Given the description of an element on the screen output the (x, y) to click on. 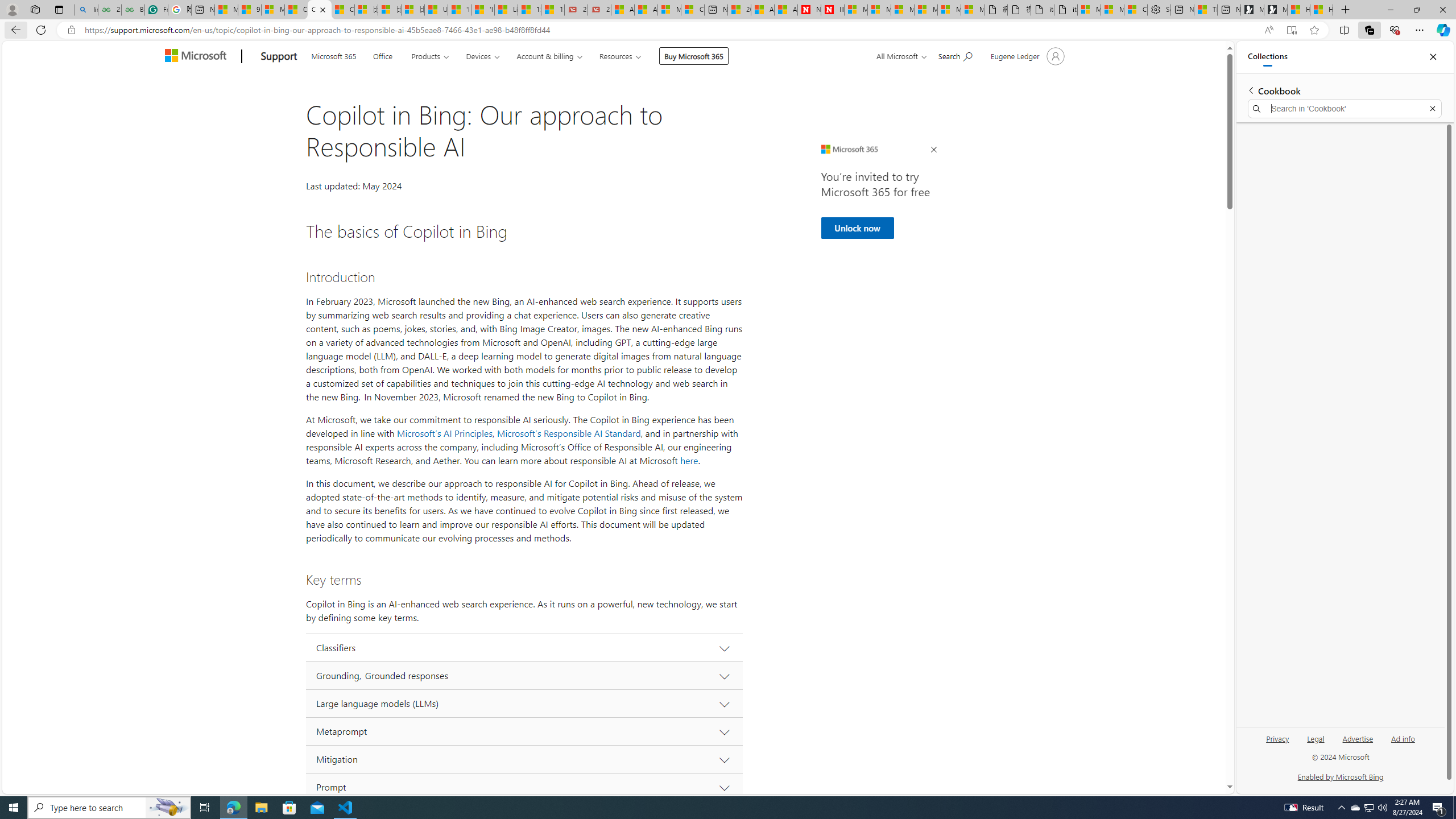
Support (278, 56)
Buy Microsoft 365 (693, 55)
here (688, 460)
